Given the description of an element on the screen output the (x, y) to click on. 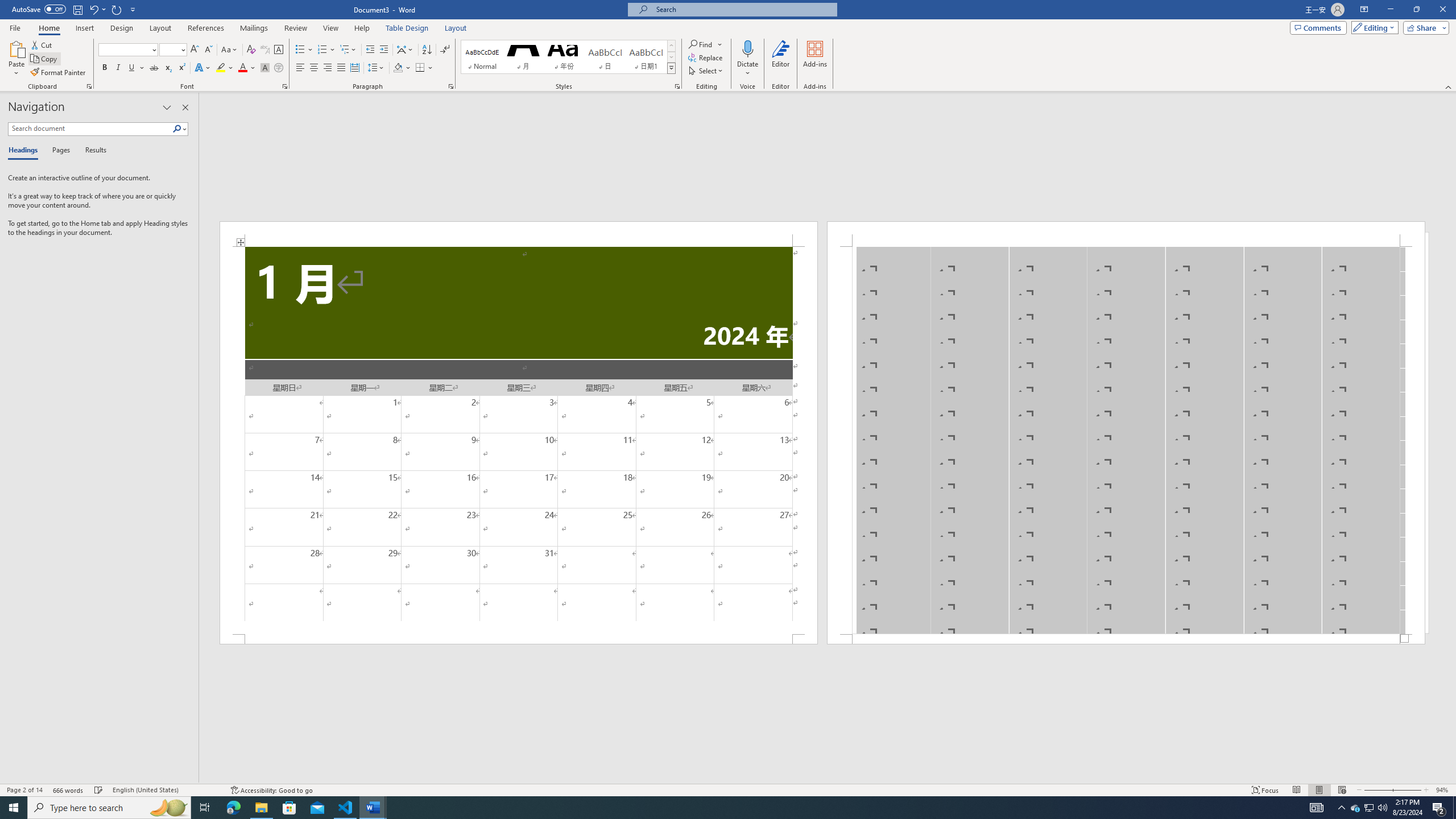
Page 1 content (518, 439)
Repeat Copy (117, 9)
Page 2 content (1126, 439)
